Given the description of an element on the screen output the (x, y) to click on. 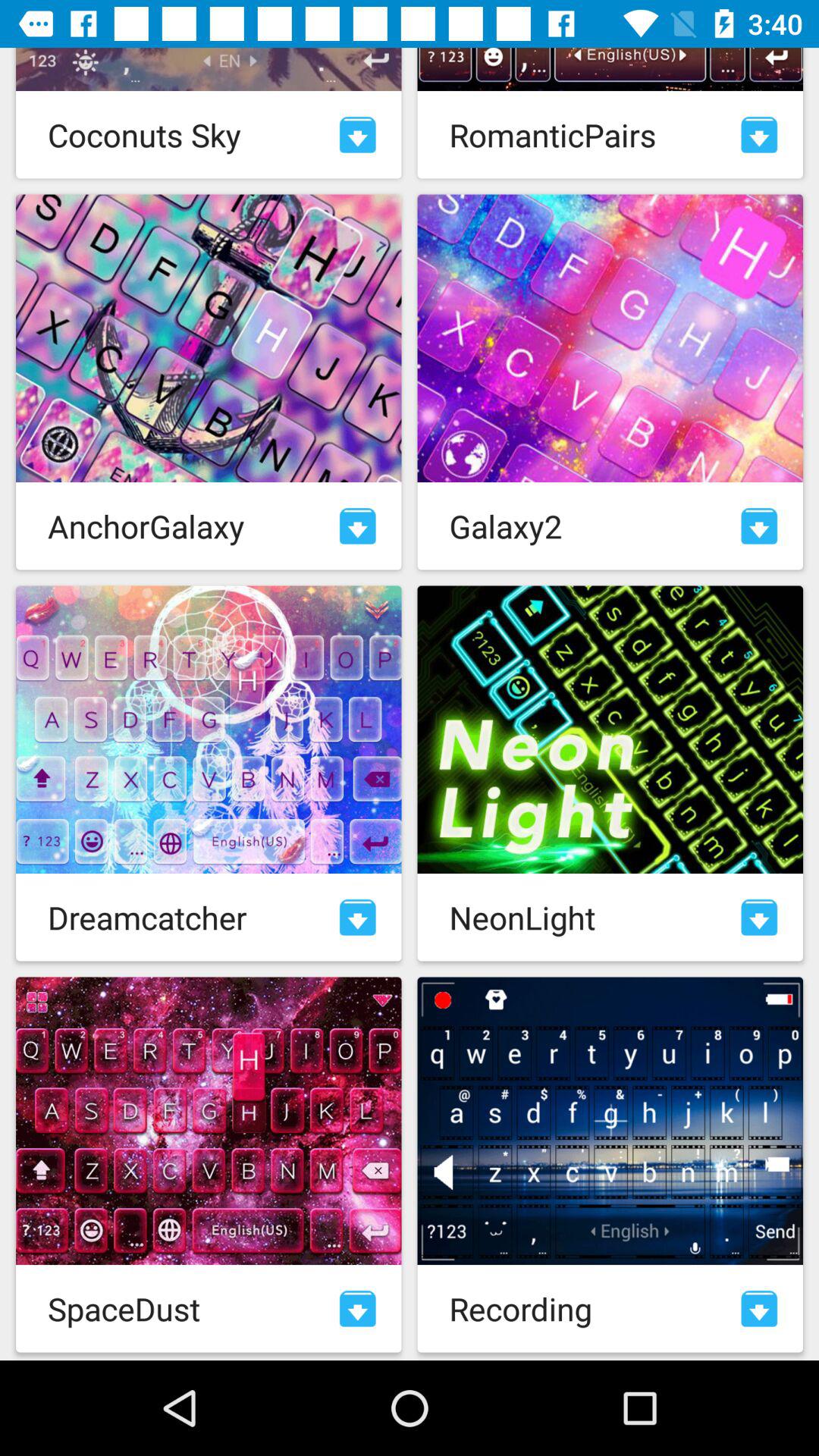
download image (759, 134)
